Given the description of an element on the screen output the (x, y) to click on. 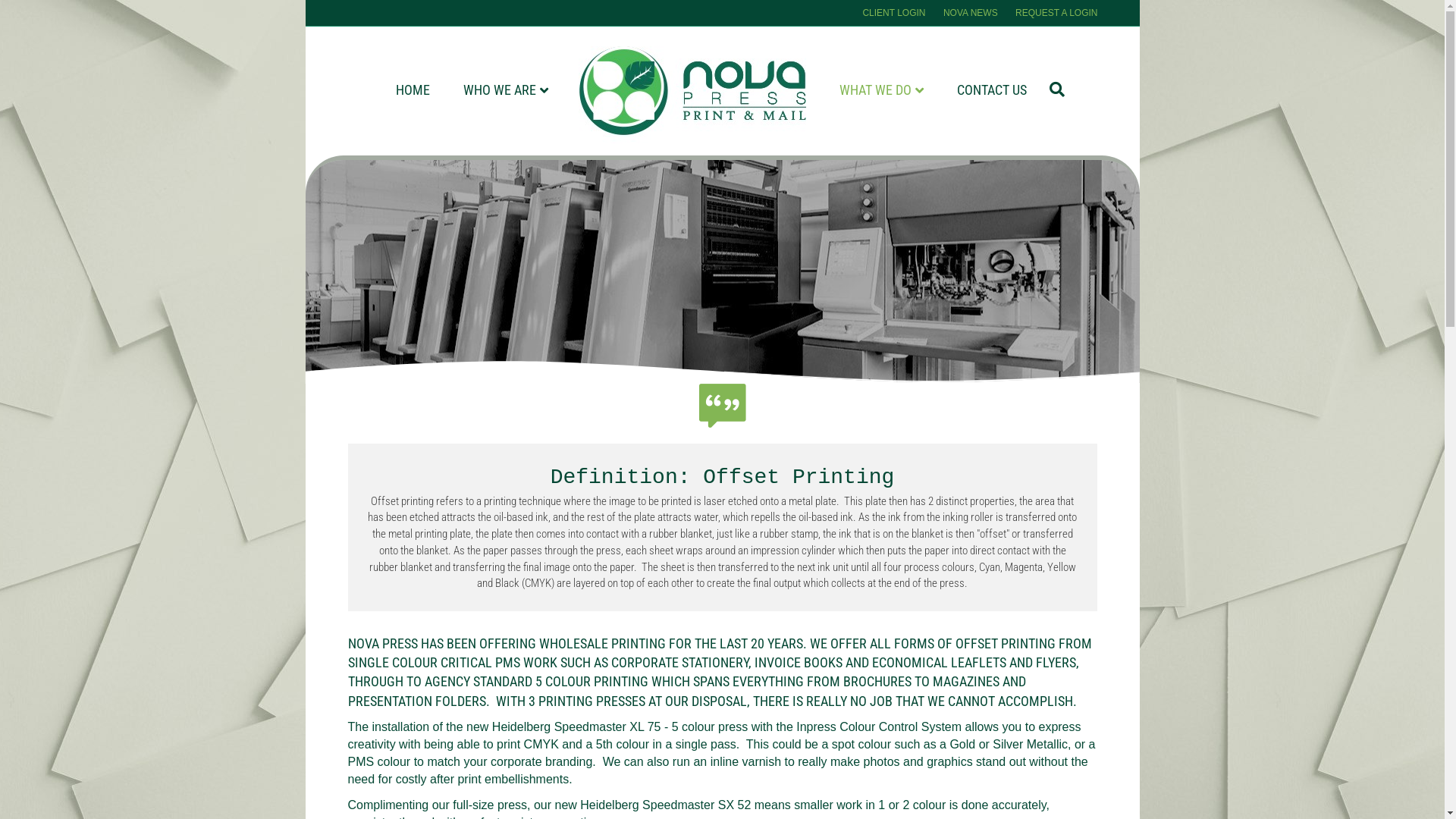
CLIENT LOGIN Element type: text (893, 12)
WHO WE ARE Element type: text (504, 90)
NOVA NEWS Element type: text (970, 12)
CONTACT US Element type: text (991, 89)
WHAT WE DO Element type: text (880, 90)
REQUEST A LOGIN Element type: text (1055, 12)
HOME Element type: text (412, 89)
